Given the description of an element on the screen output the (x, y) to click on. 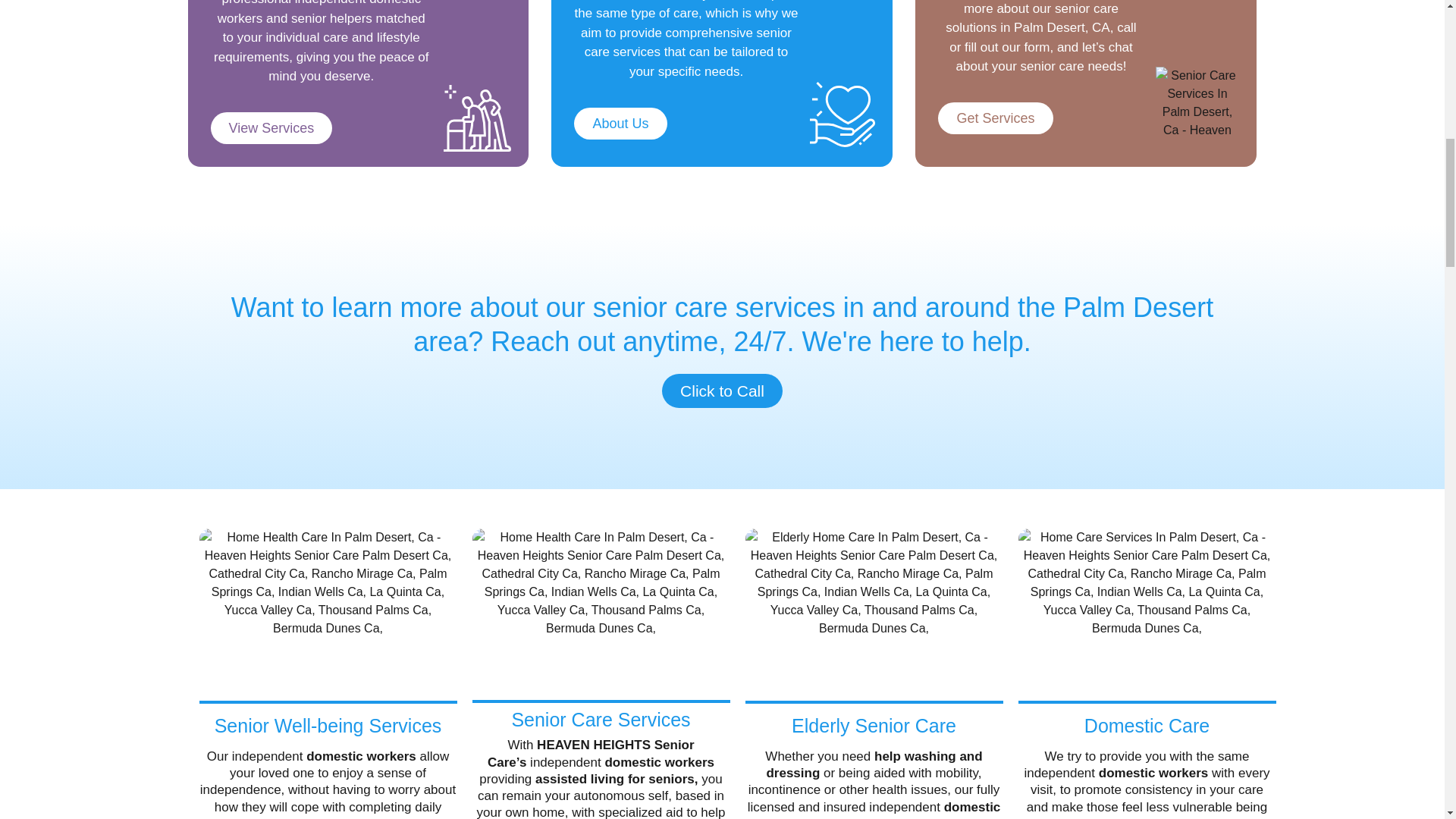
About Us (619, 123)
View Services (272, 128)
Click to Call (722, 390)
Senior Care Services (600, 719)
Elderly Senior Care (874, 725)
Senior Well-being Services (328, 725)
Get Services (994, 118)
